Given the description of an element on the screen output the (x, y) to click on. 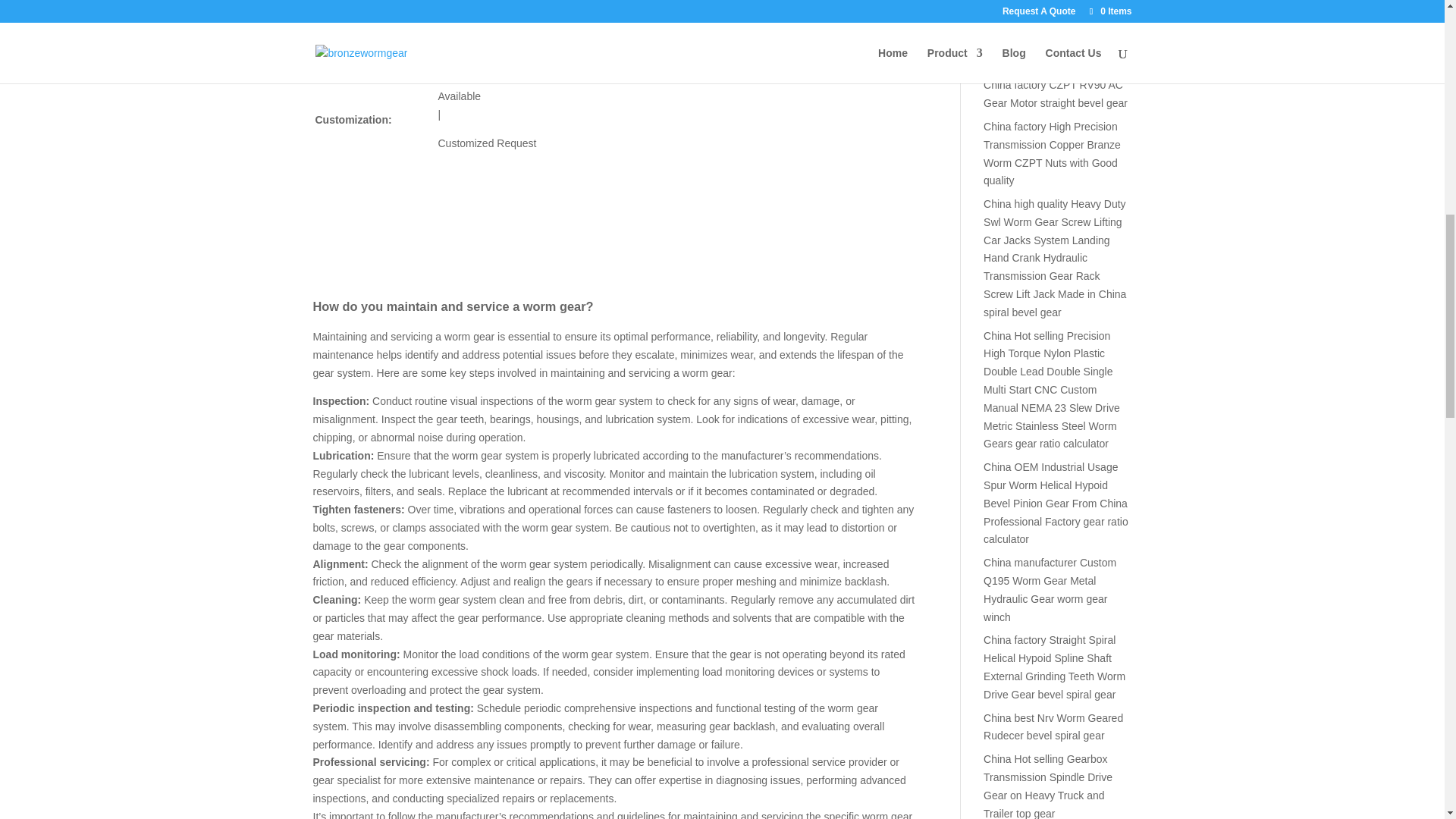
China best Nrv Worm Geared Rudecer bevel spiral gear (1053, 726)
China factory CZPT RV90 AC Gear Motor straight bevel gear (1055, 93)
